Given the description of an element on the screen output the (x, y) to click on. 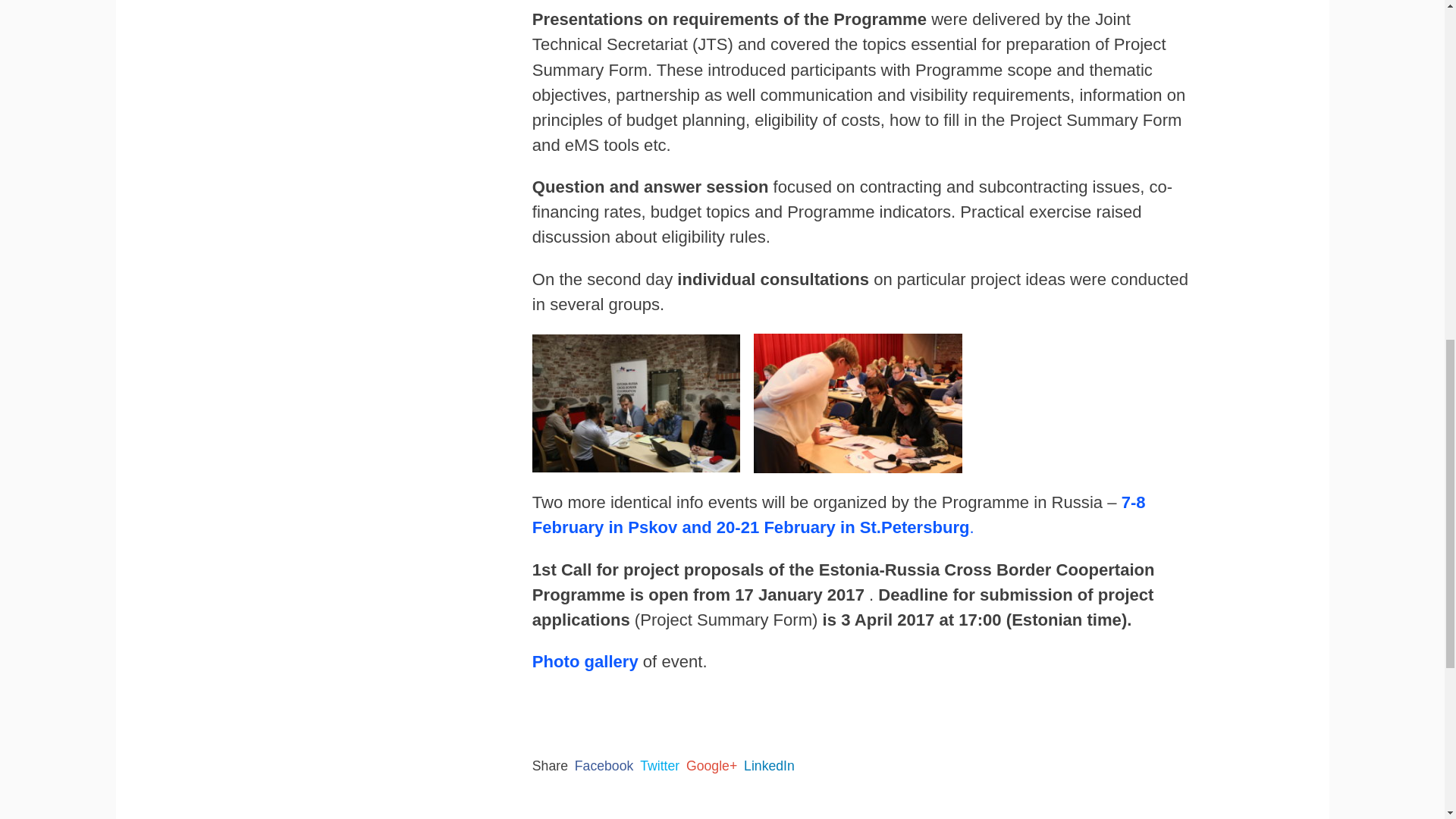
Photo gallery (585, 660)
Facebook (604, 765)
7-8 February in Pskov and 20-21 February in St.Petersburg. (838, 515)
Twitter (659, 765)
LinkedIn (769, 765)
